Given the description of an element on the screen output the (x, y) to click on. 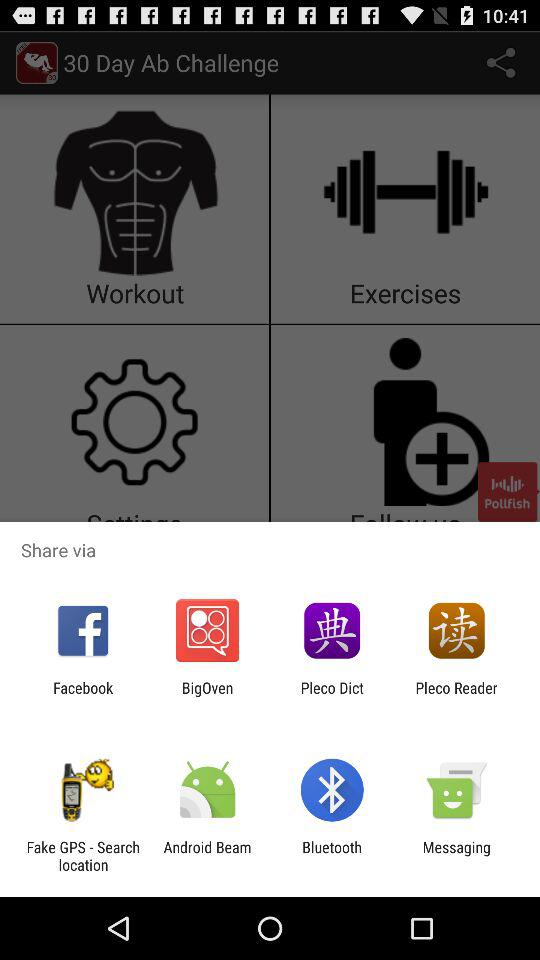
click item to the right of the pleco dict item (456, 696)
